Given the description of an element on the screen output the (x, y) to click on. 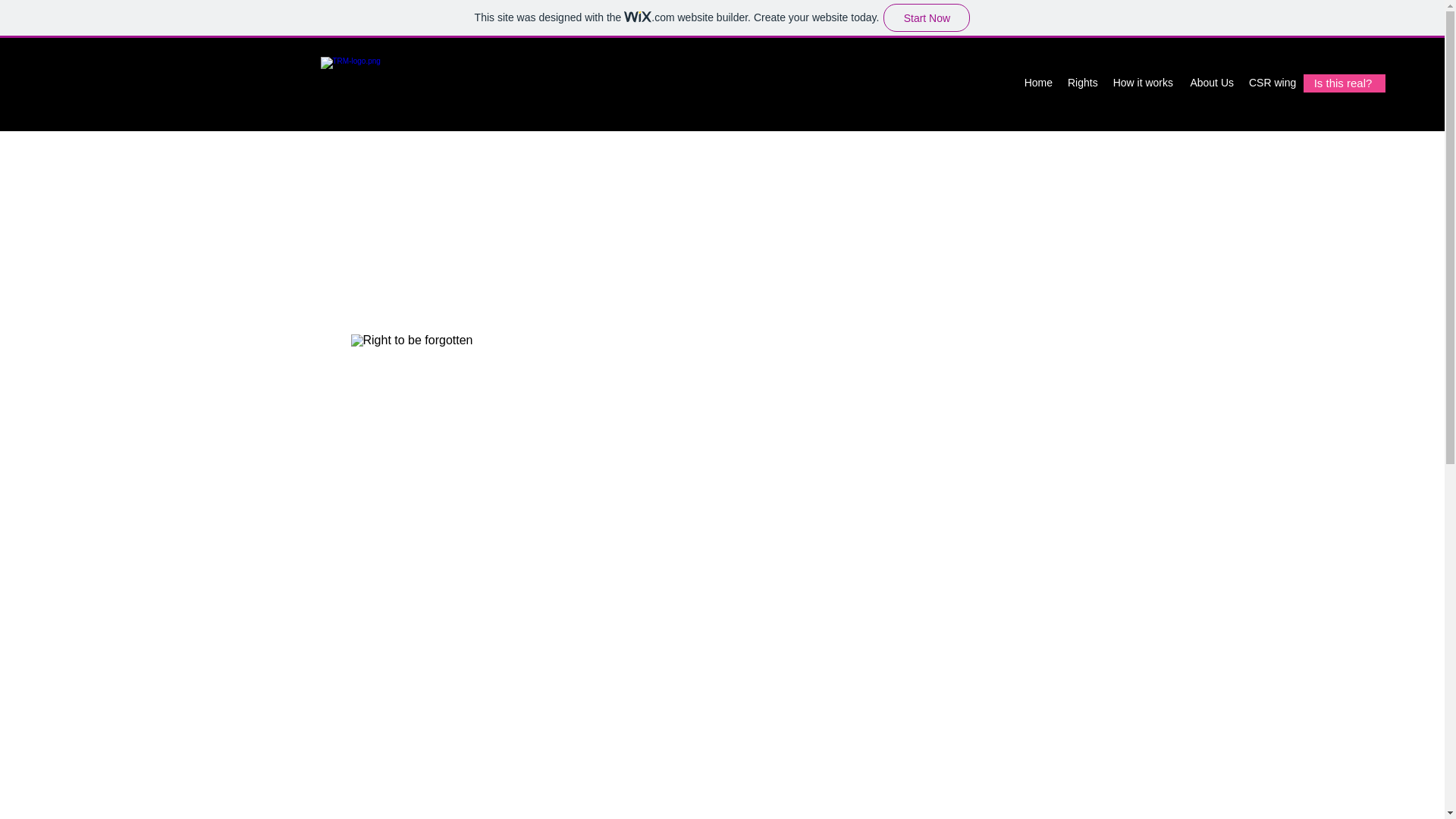
Rights (1082, 82)
CSR wing (1271, 82)
How it works (1142, 82)
Home (1037, 82)
About Us (1210, 82)
Is this real? (1344, 83)
Feedback (1333, 82)
